Given the description of an element on the screen output the (x, y) to click on. 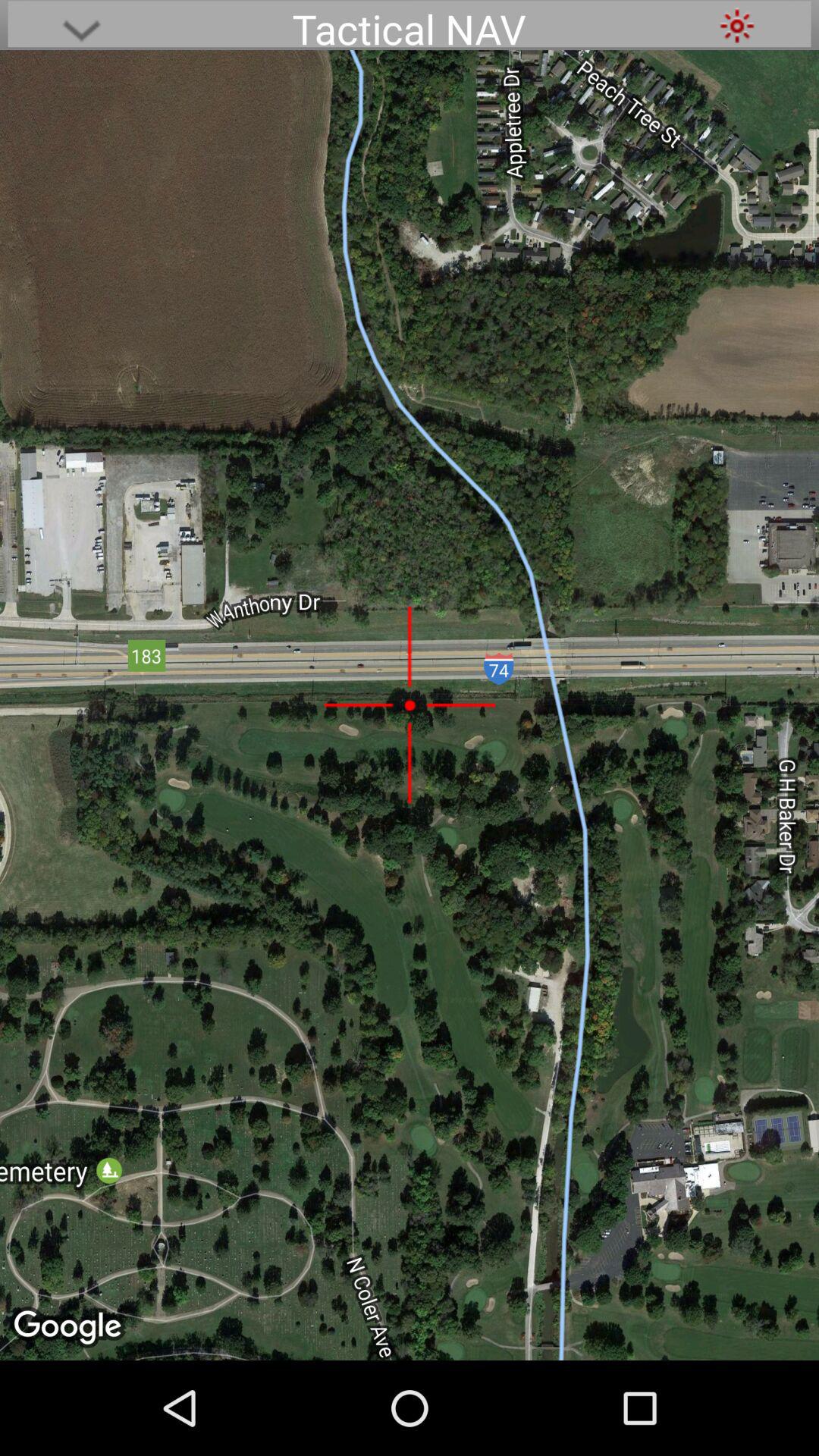
turn on icon at the top left corner (81, 25)
